Given the description of an element on the screen output the (x, y) to click on. 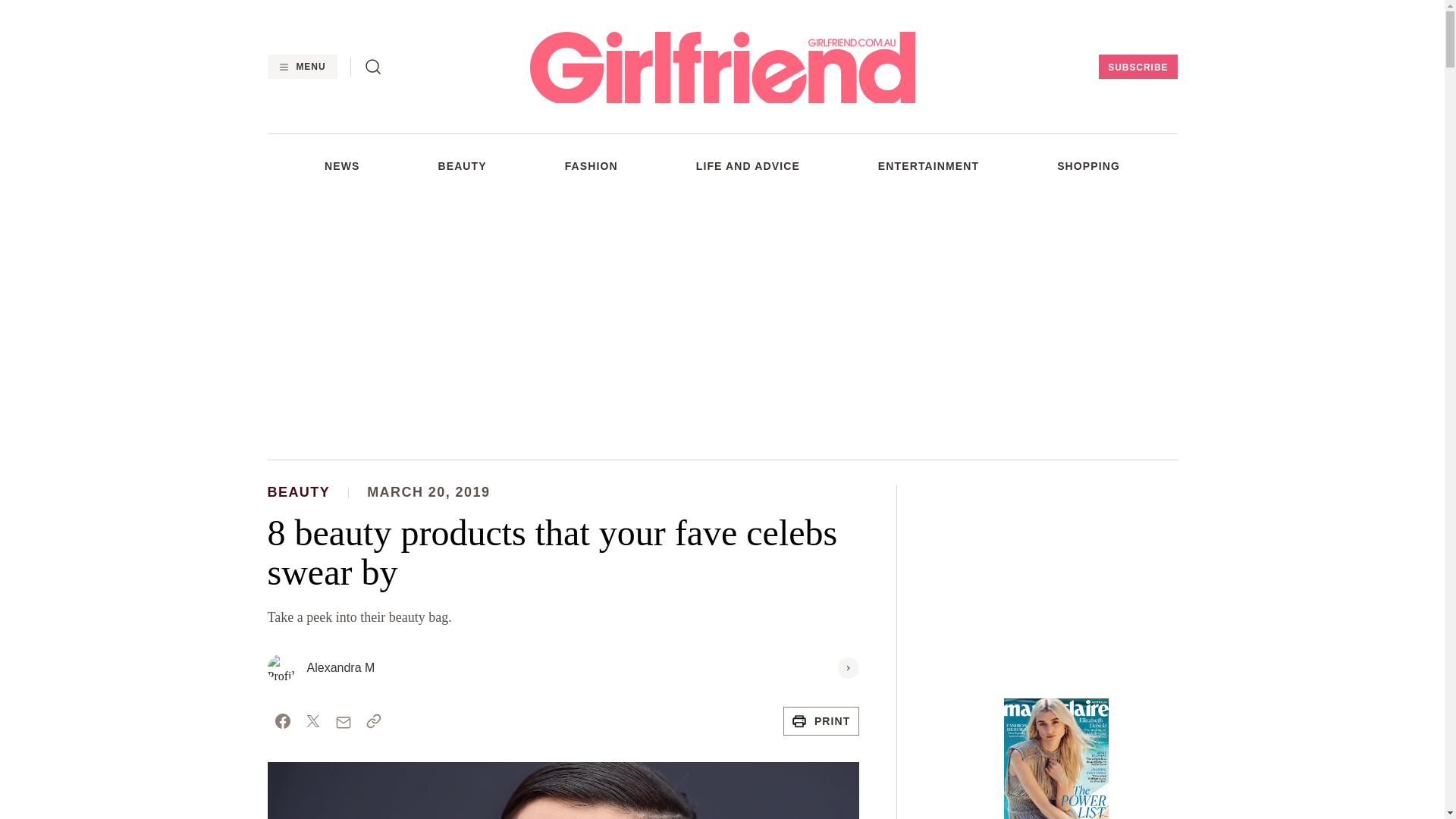
SHOPPING (1088, 165)
FASHION (590, 165)
NEWS (341, 165)
SUBSCRIBE (1137, 66)
MENU (301, 66)
BEAUTY (462, 165)
ENTERTAINMENT (927, 165)
LIFE AND ADVICE (747, 165)
